Given the description of an element on the screen output the (x, y) to click on. 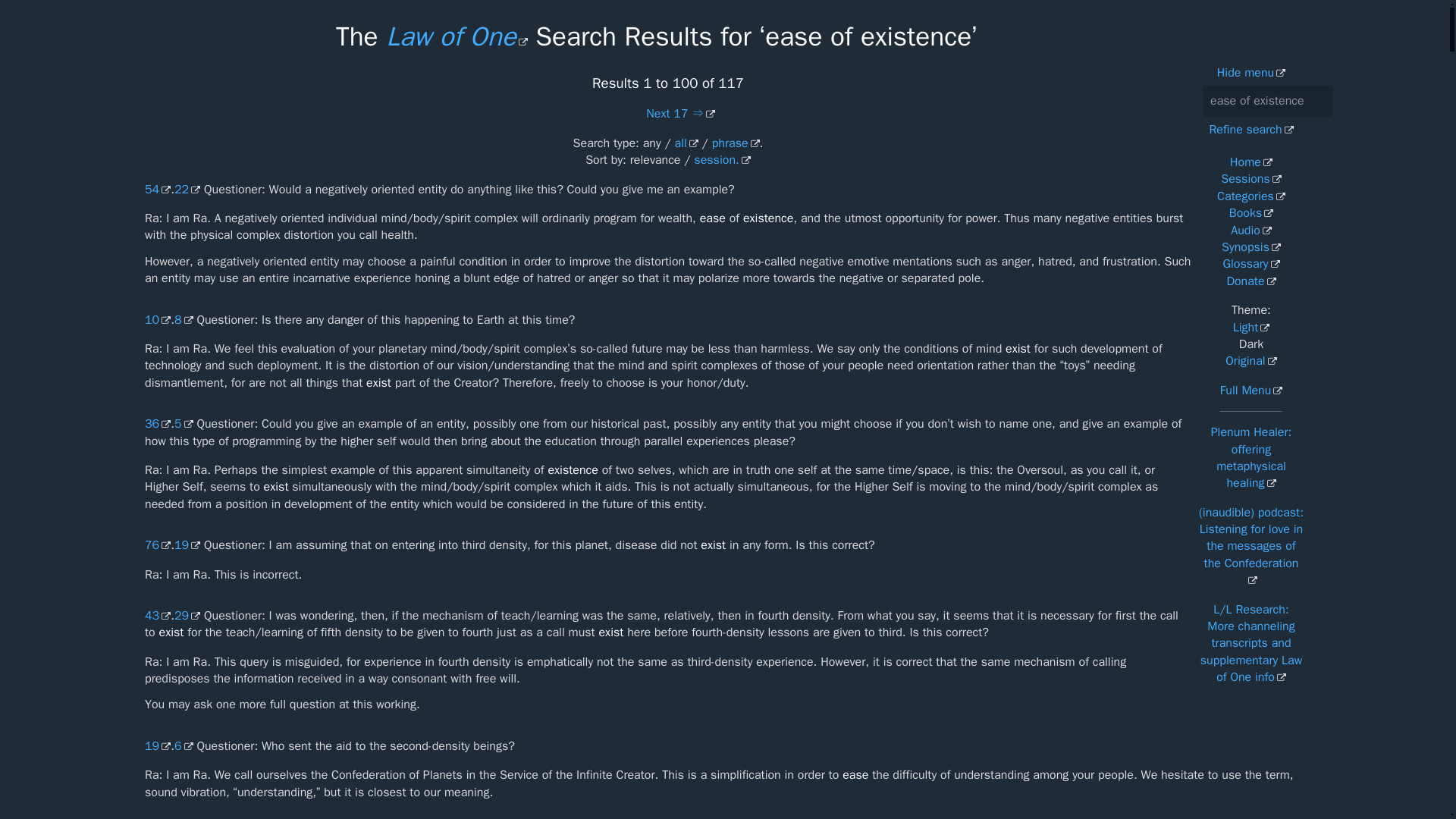
5 (183, 423)
8 (183, 319)
76 (157, 544)
22 (187, 189)
36 (157, 423)
19 (157, 745)
29 (187, 615)
all (686, 142)
43 (157, 615)
10 (157, 319)
